Given the description of an element on the screen output the (x, y) to click on. 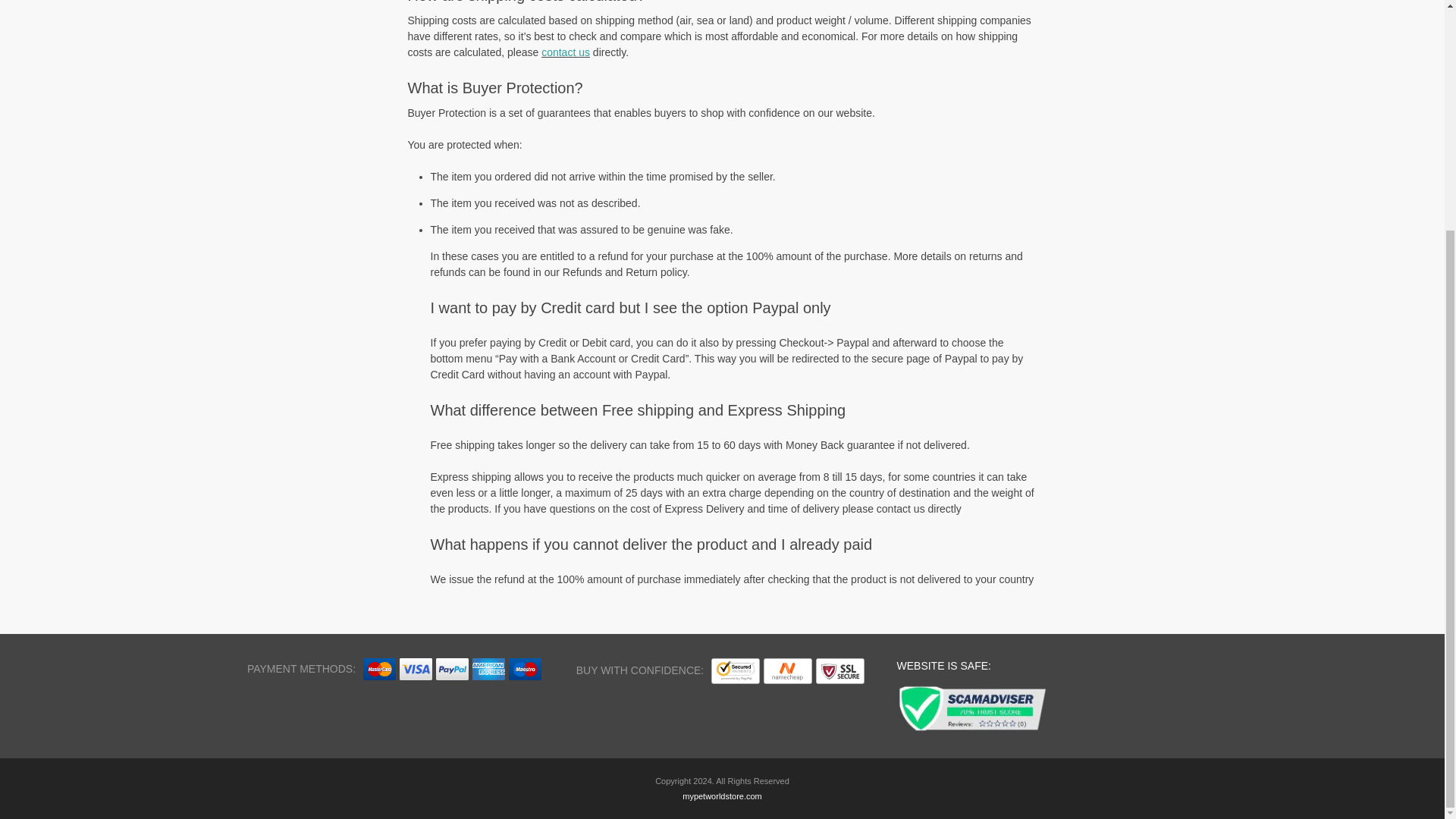
contact us (565, 51)
